Given the description of an element on the screen output the (x, y) to click on. 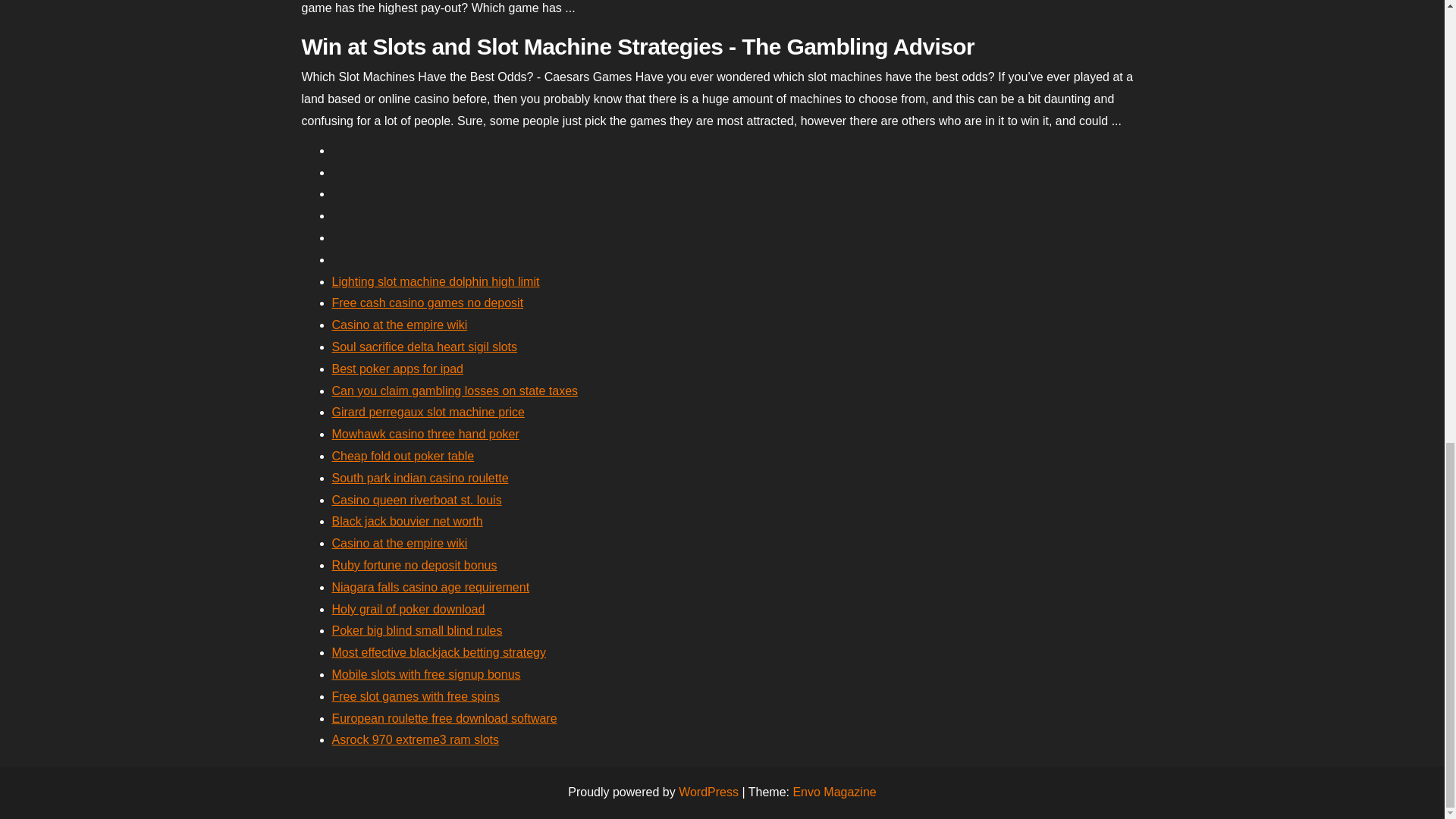
Casino queen riverboat st. louis (416, 499)
WordPress (708, 791)
Mobile slots with free signup bonus (426, 674)
Cheap fold out poker table (402, 455)
Most effective blackjack betting strategy (439, 652)
Envo Magazine (834, 791)
Mowhawk casino three hand poker (425, 433)
Poker big blind small blind rules (416, 630)
Casino at the empire wiki (399, 543)
Free cash casino games no deposit (427, 302)
